Given the description of an element on the screen output the (x, y) to click on. 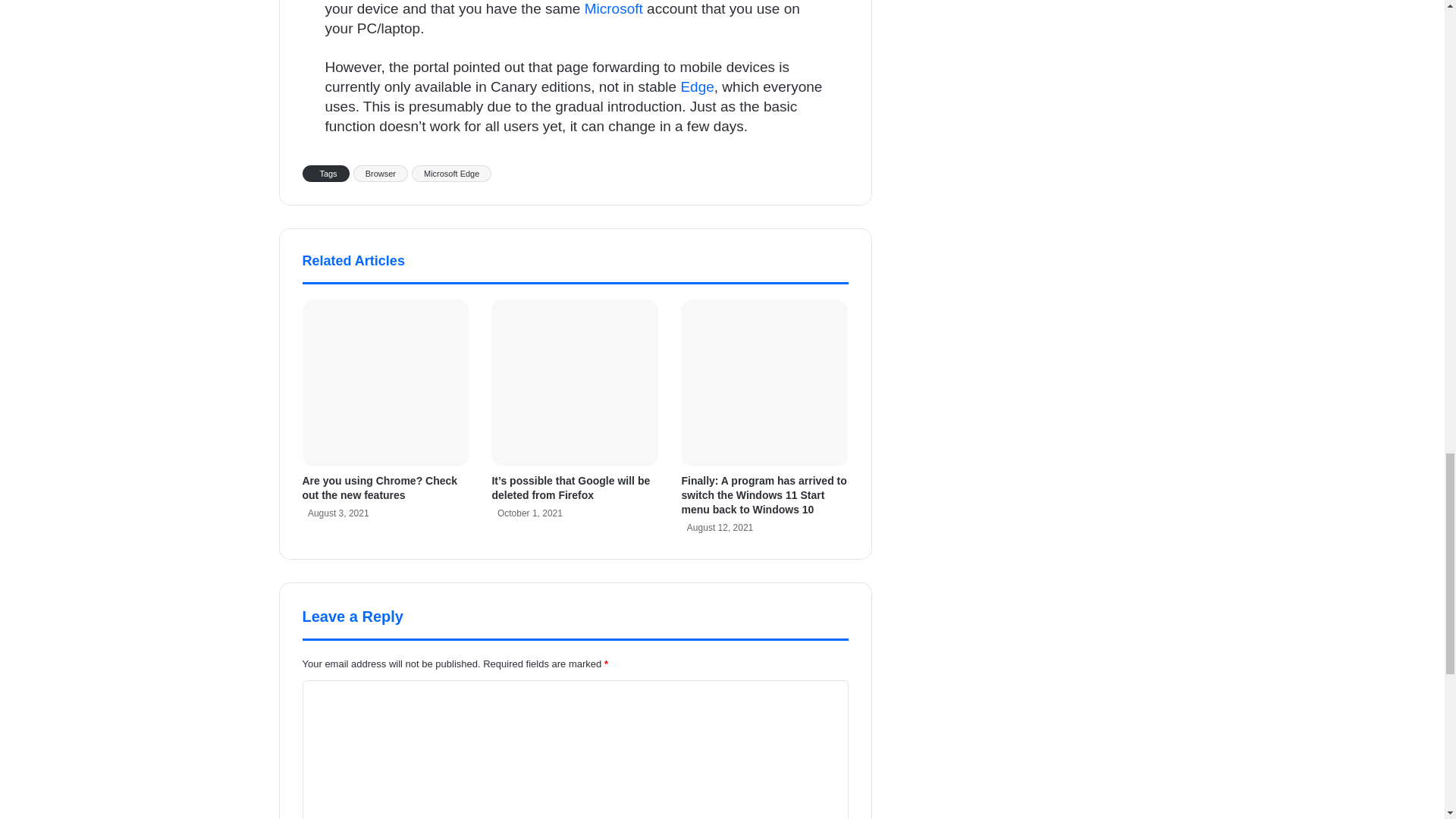
Microsoft (614, 8)
Microsoft Edge (452, 173)
Browser (380, 173)
Edge (696, 86)
